Given the description of an element on the screen output the (x, y) to click on. 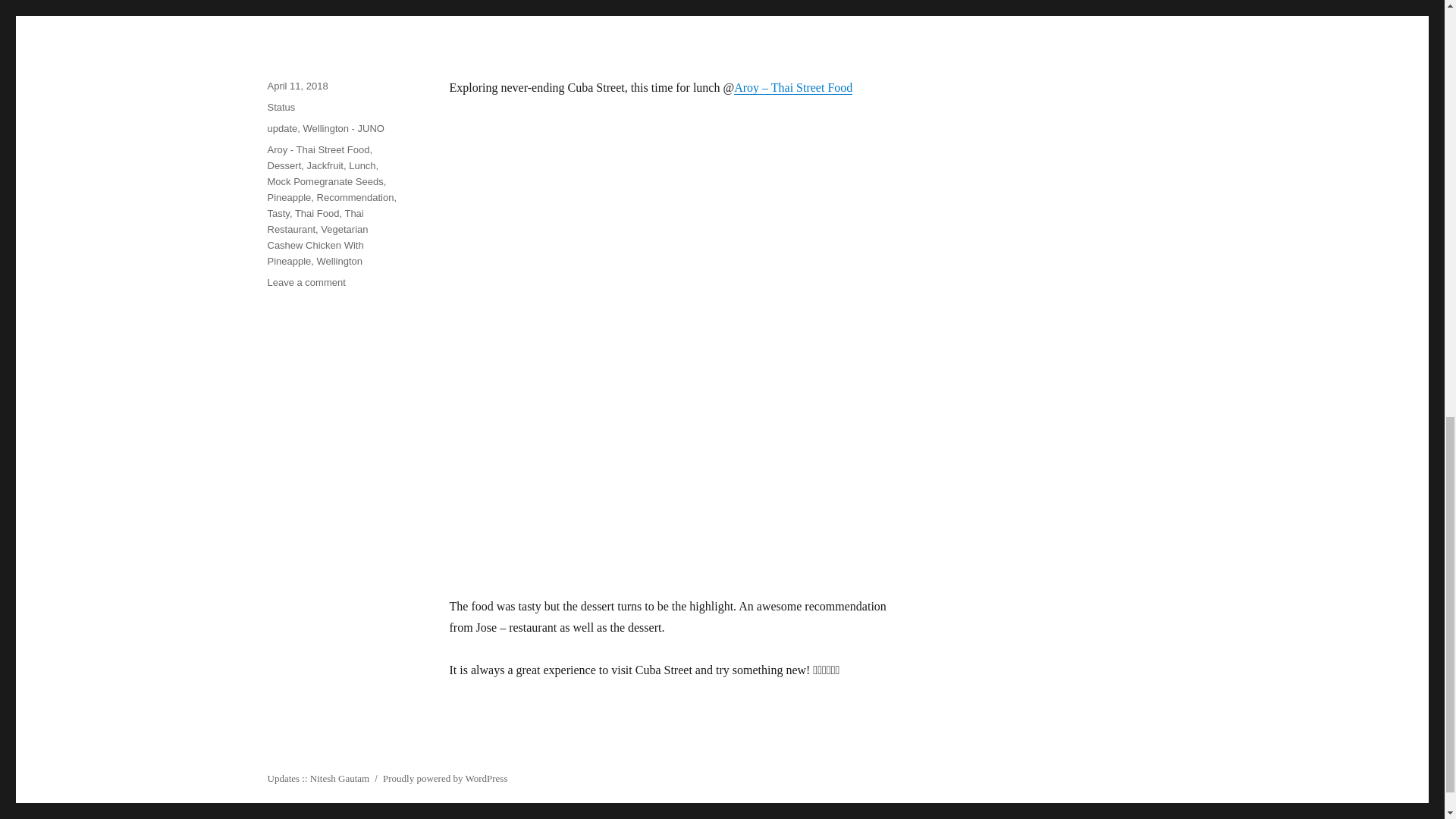
April 11, 2018 (296, 85)
Status (280, 107)
Lunch (362, 165)
Dessert (283, 165)
Mock Pomegranate Seeds (324, 181)
Jackfruit (325, 165)
Wellington - JUNO (343, 128)
update (281, 128)
Aroy - Thai Street Food (317, 149)
Pineapple (288, 197)
